Given the description of an element on the screen output the (x, y) to click on. 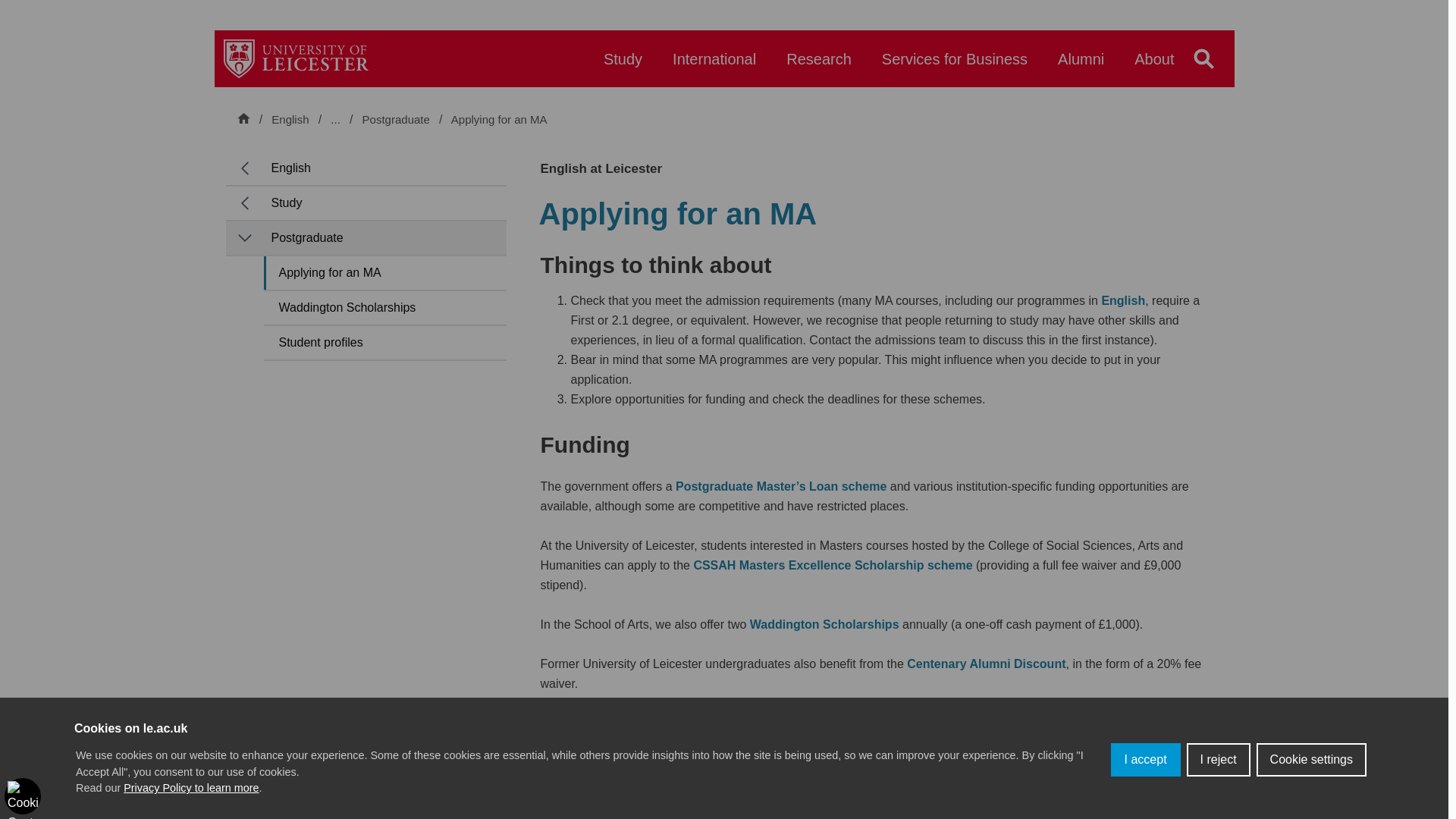
Cookie settings (1311, 759)
Study (623, 65)
Study (376, 119)
Privacy Policy to learn more (191, 787)
Return to homepage (295, 58)
Applying for an MA (499, 119)
Postgraduate (397, 119)
I reject (1218, 759)
I accept (1145, 759)
English (289, 119)
